Given the description of an element on the screen output the (x, y) to click on. 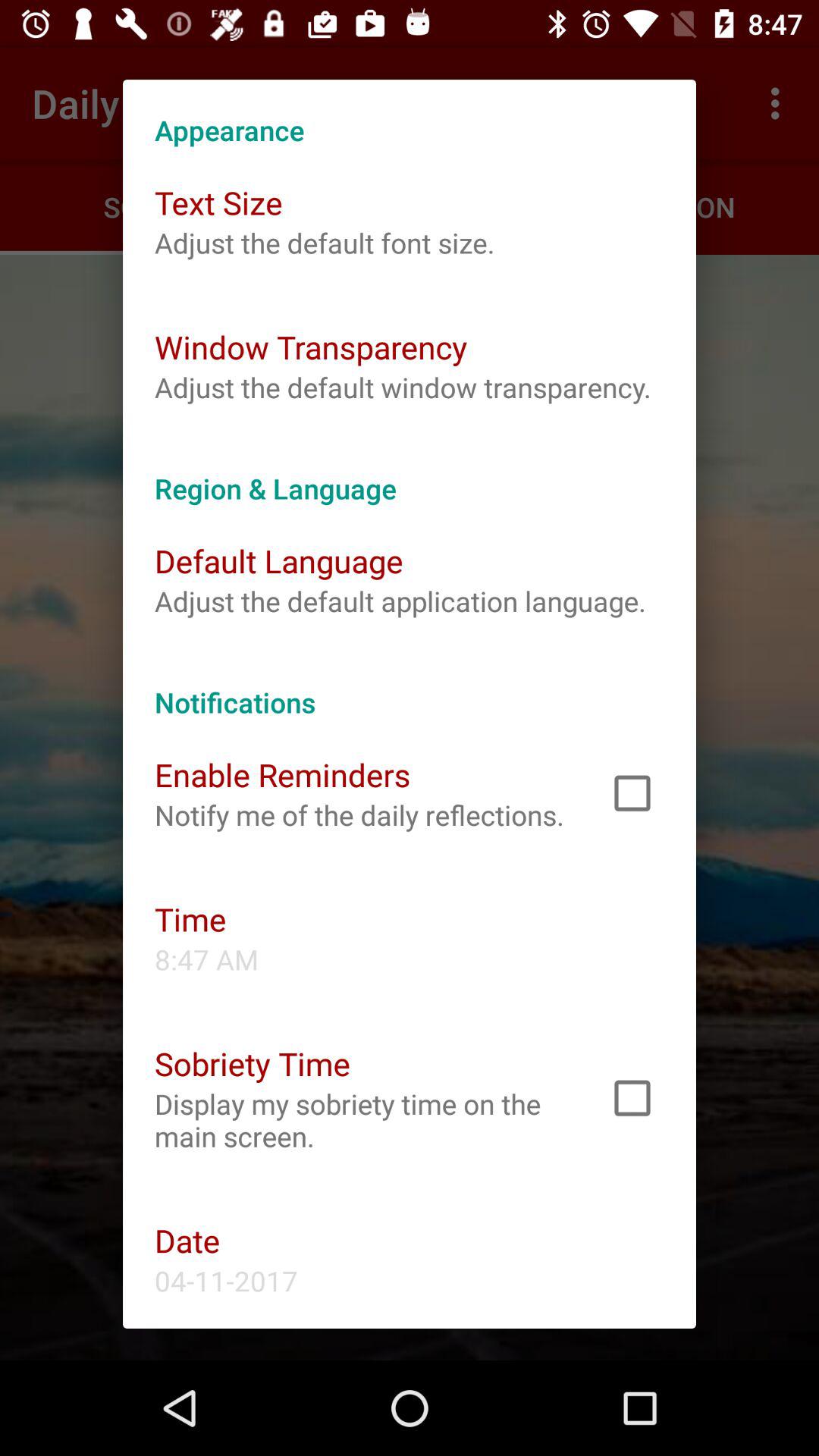
tap the item below appearance (218, 202)
